Given the description of an element on the screen output the (x, y) to click on. 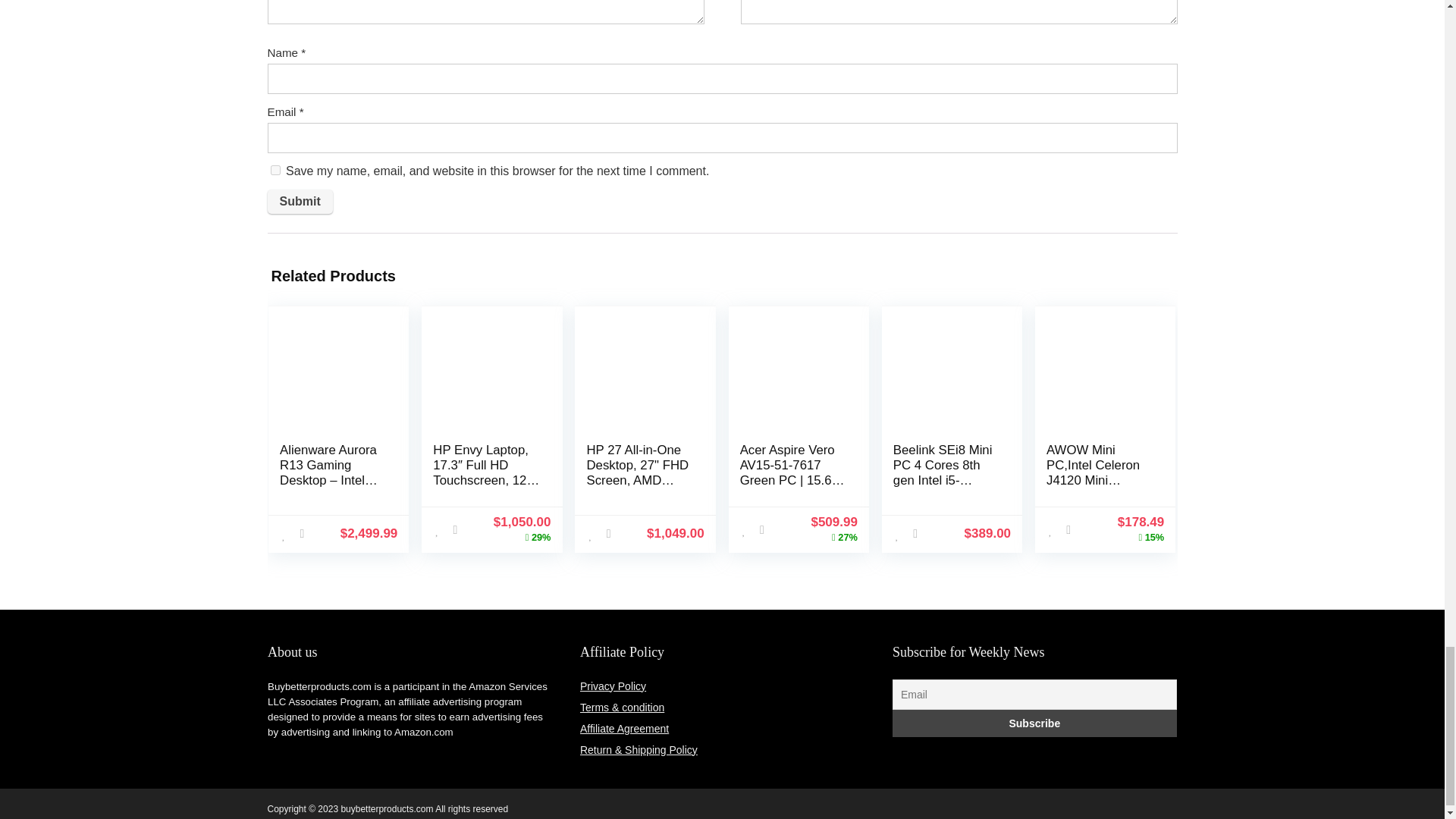
yes (274, 170)
Submit (298, 201)
Subscribe (1034, 723)
